Given the description of an element on the screen output the (x, y) to click on. 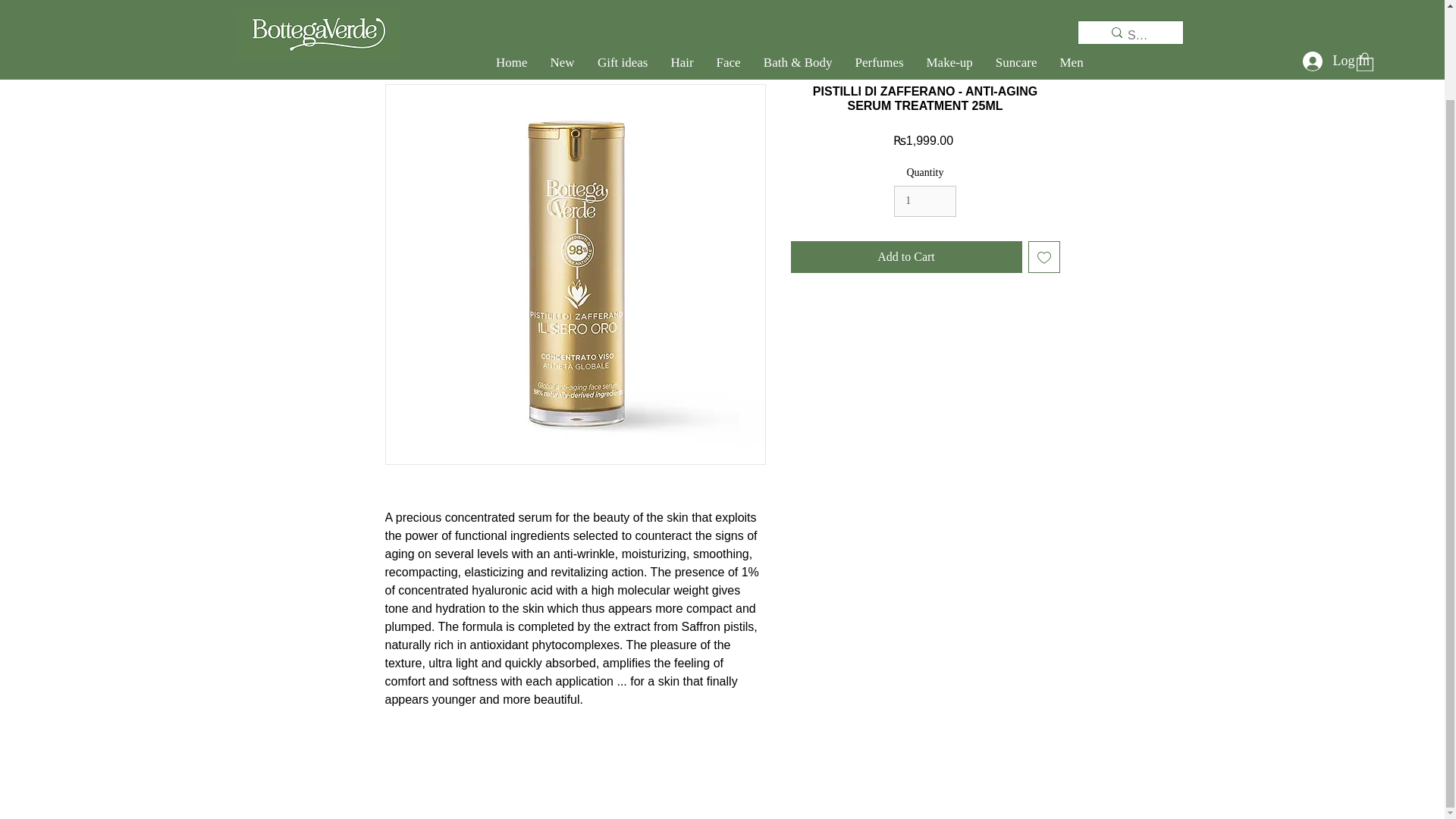
1 (924, 201)
